Given the description of an element on the screen output the (x, y) to click on. 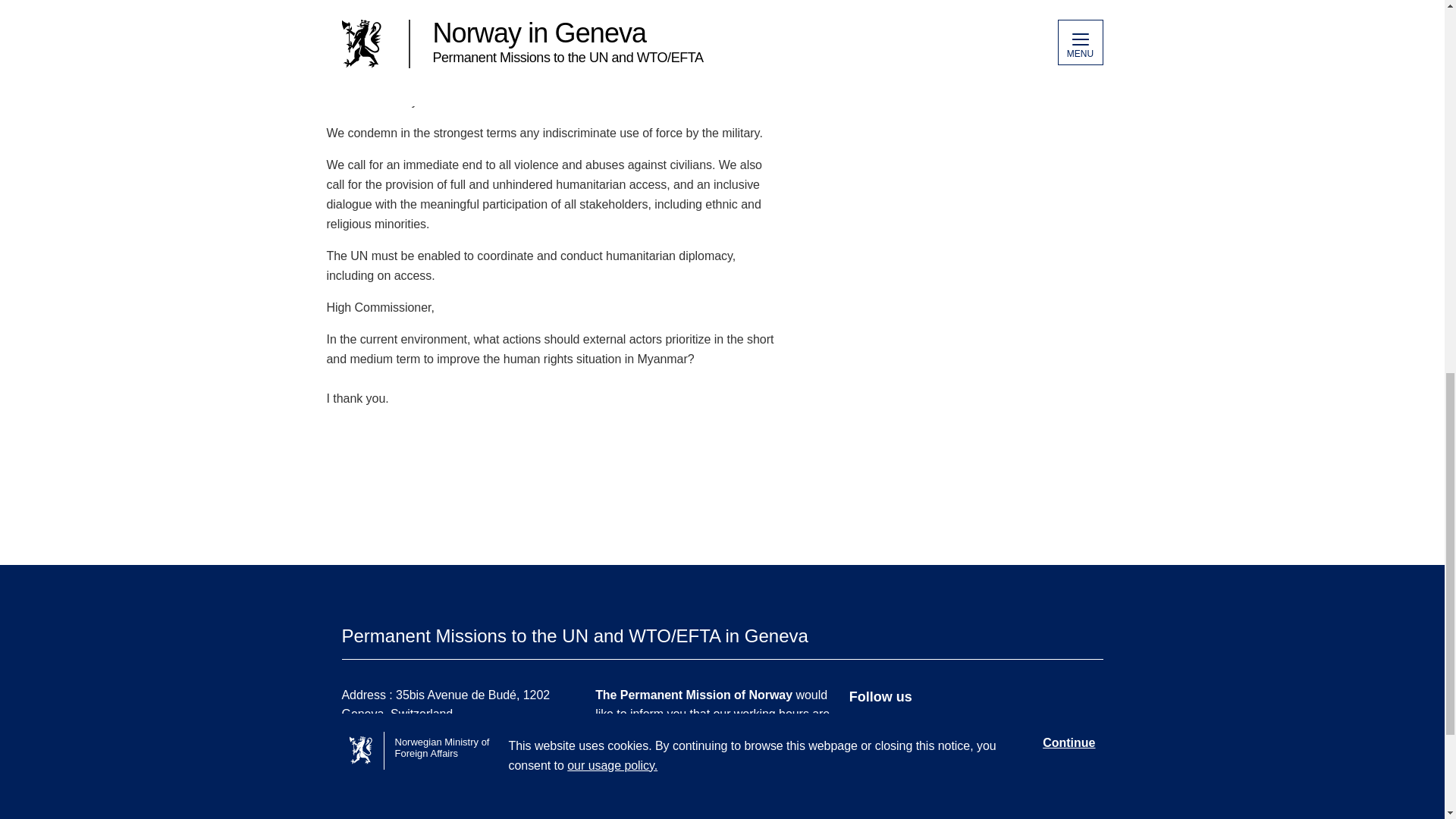
Follow us on Twitter (964, 721)
Follow us on LinkedIn (964, 760)
Follow us on Instagram (964, 740)
